Given the description of an element on the screen output the (x, y) to click on. 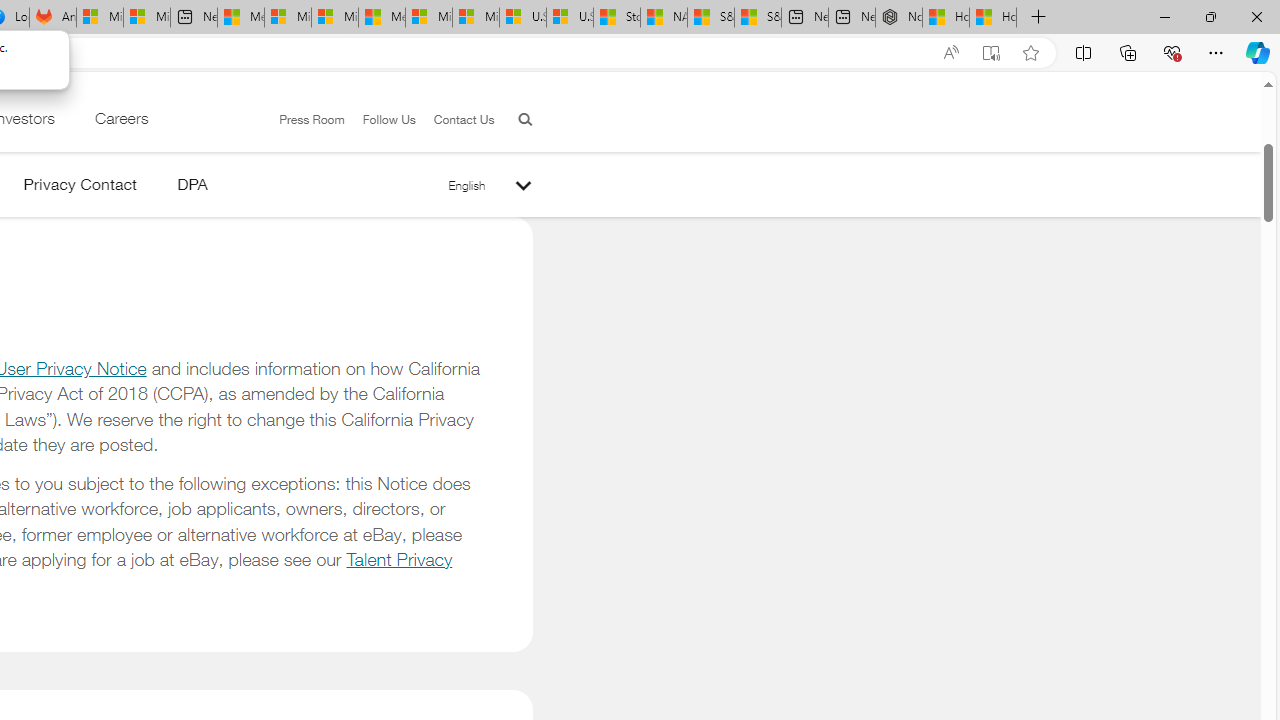
DPA (191, 188)
Microsoft account | Home (335, 17)
Privacy Contact (80, 188)
